Given the description of an element on the screen output the (x, y) to click on. 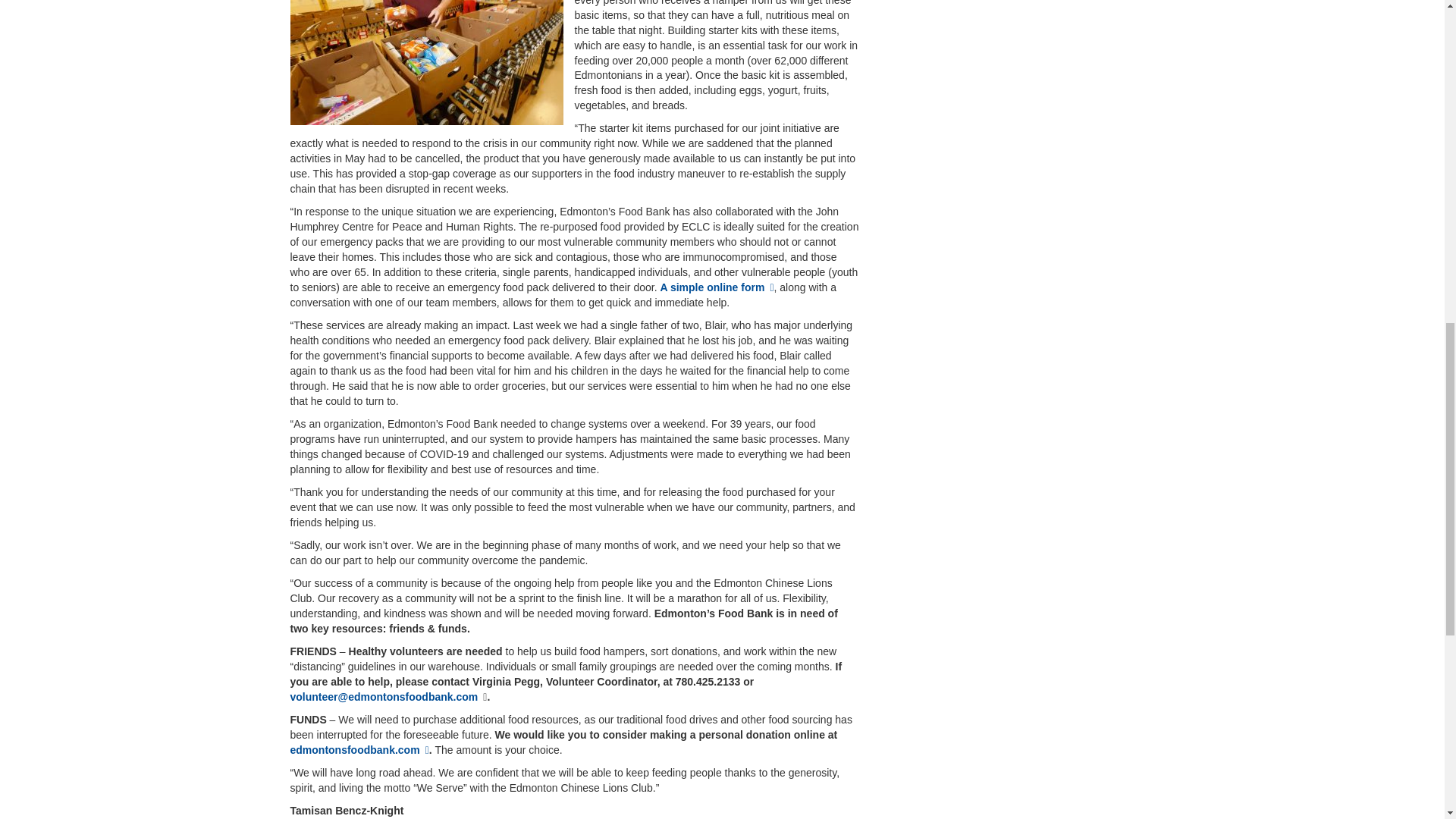
A simple online form (716, 287)
edmontonsfoodbank.com (358, 749)
